Given the description of an element on the screen output the (x, y) to click on. 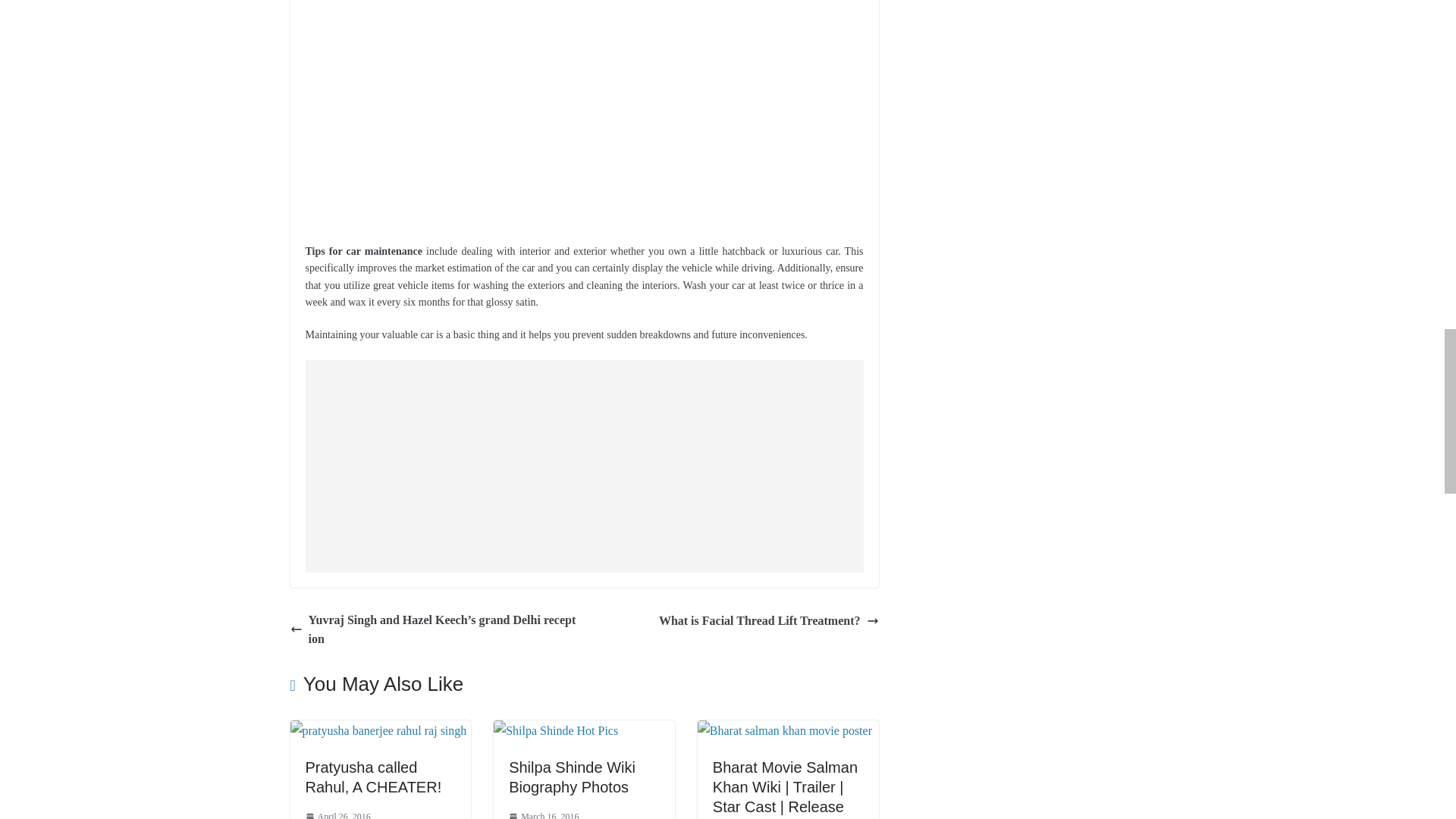
March 16, 2016 (543, 814)
Pratyusha called Rahul, A CHEATER! (372, 777)
Shilpa Shinde Wiki Biography Photos (555, 730)
Pratyusha called Rahul, A CHEATER! (377, 730)
6:14 pm (543, 814)
Shilpa Shinde Wiki Biography Photos (571, 777)
Shilpa Shinde Wiki Biography Photos (571, 777)
April 26, 2016 (336, 814)
7:04 am (336, 814)
What is Facial Thread Lift Treatment? (769, 620)
